Given the description of an element on the screen output the (x, y) to click on. 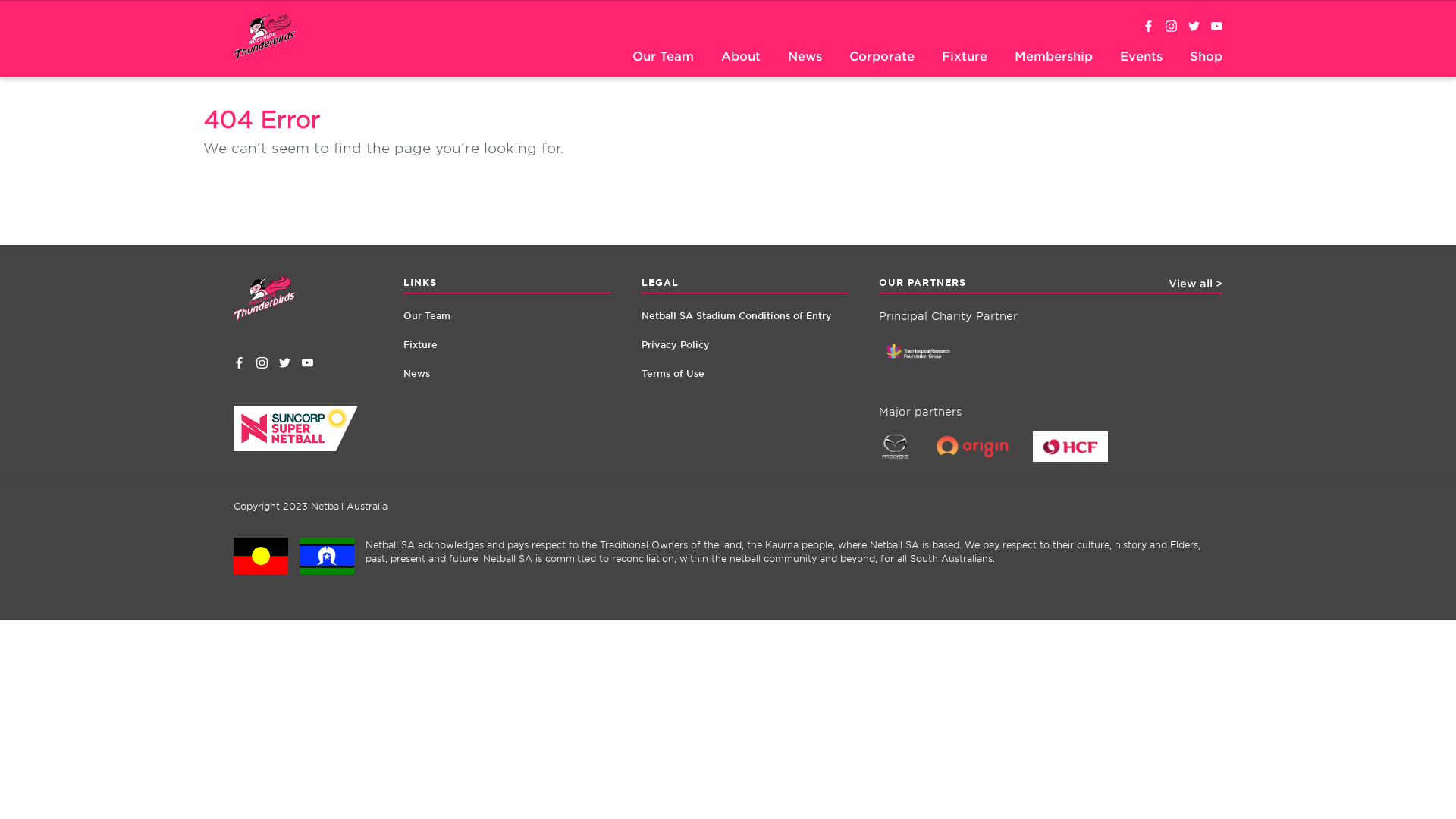
@AdelaideTBirds Element type: hover (284, 363)
News Element type: text (507, 365)
News Element type: text (804, 57)
Adelaide ThunderbirdsFacebook Element type: hover (1148, 26)
Netball SA Stadium Conditions of Entry Element type: text (745, 307)
@adelaidethunderbirds Element type: hover (261, 363)
Fixture Element type: text (964, 57)
Adelaide ThunderbirdsFacebook Element type: hover (238, 363)
Visit site Element type: hover (929, 362)
Visit site Element type: hover (906, 457)
Adelaide Thunderbirds on YouTube Element type: hover (307, 363)
Corporate Element type: text (881, 57)
@adelaidethunderbirds Element type: hover (1170, 26)
View all > Element type: text (1195, 283)
Visit site Element type: hover (1081, 457)
About Element type: text (740, 57)
Our Team Element type: text (507, 307)
Shop Element type: text (1205, 57)
@AdelaideTBirds Element type: hover (1193, 26)
Visit site Element type: hover (983, 457)
Our Team Element type: text (663, 57)
Adelaide Thunderbirds on YouTube Element type: hover (1216, 26)
Events Element type: text (1140, 57)
Membership Element type: text (1053, 57)
Terms of Use Element type: text (745, 365)
Privacy Policy Element type: text (745, 336)
Fixture Element type: text (507, 336)
